Given the description of an element on the screen output the (x, y) to click on. 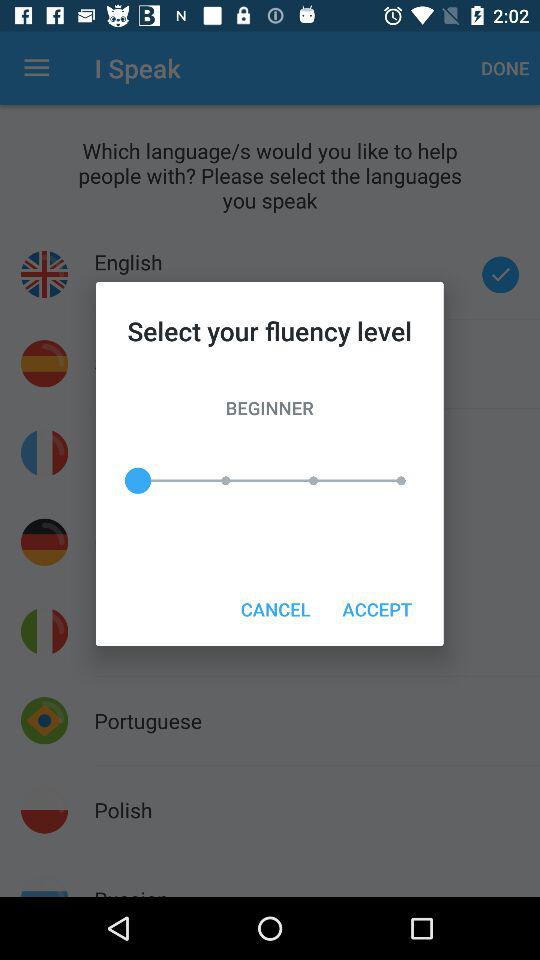
launch icon next to the accept icon (275, 608)
